Given the description of an element on the screen output the (x, y) to click on. 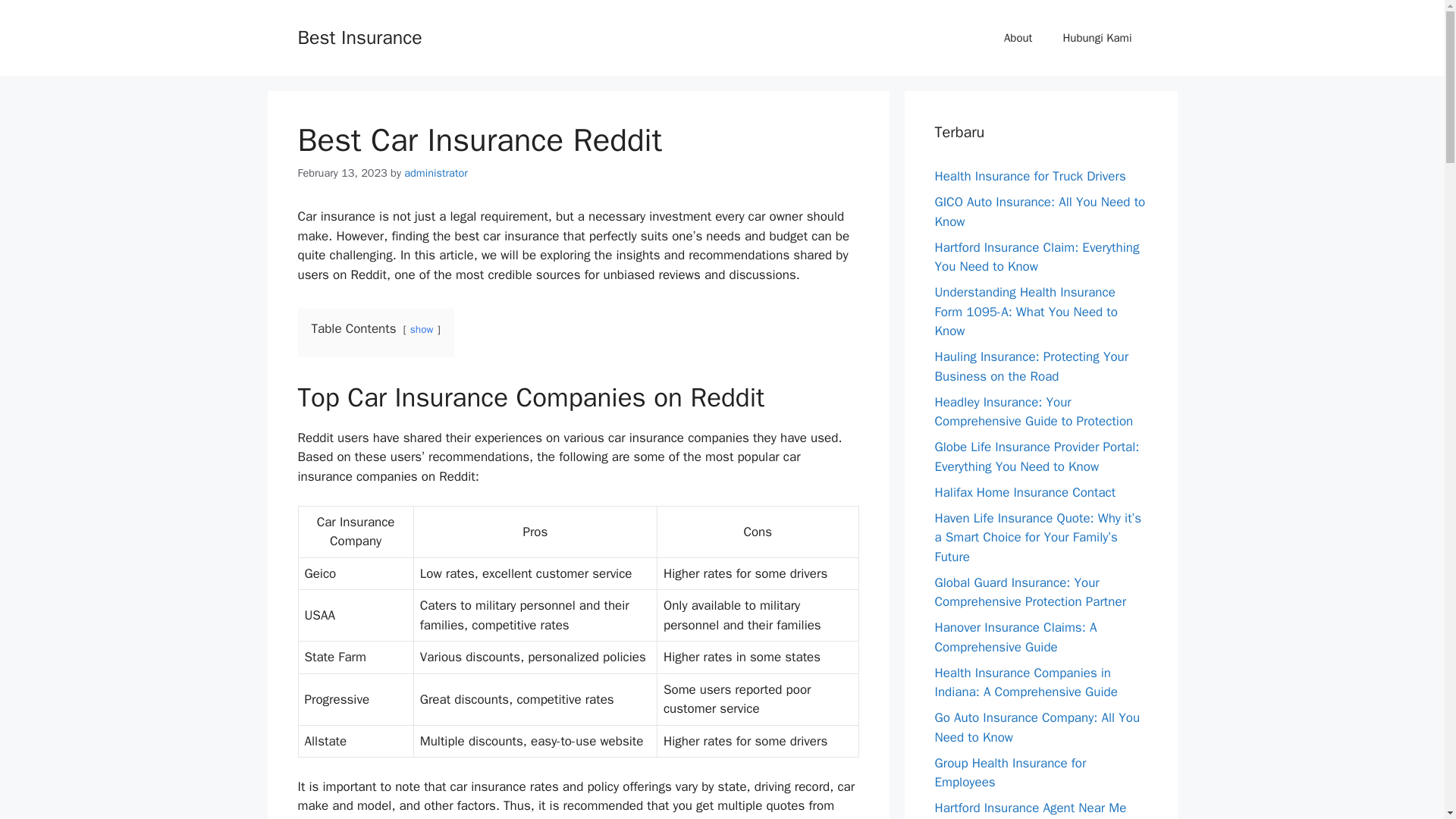
View all posts by administrator (435, 172)
administrator (435, 172)
Hubungi Kami (1096, 37)
show (421, 328)
Best Insurance (359, 37)
About (1017, 37)
